Given the description of an element on the screen output the (x, y) to click on. 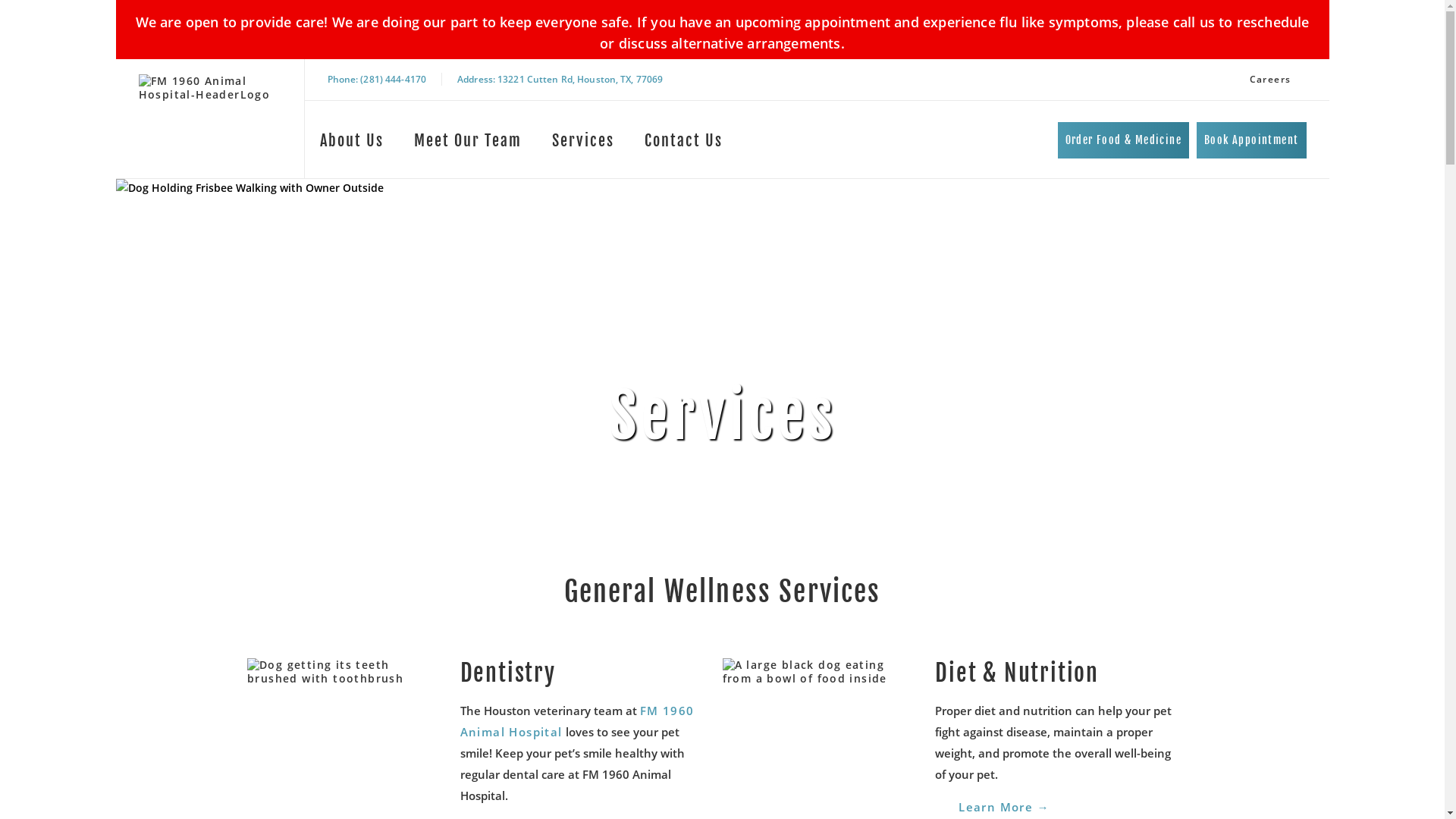
Logo Element type: hover (213, 118)
Book Appointment Element type: text (1250, 139)
Order Food & Medicine Element type: text (1123, 139)
Address: 13221 Cutten Rd, Houston, TX, 77069 Element type: text (559, 78)
About Us Element type: text (351, 143)
Dog getting its teeth brushed with toothbrush Element type: hover (342, 671)
Phone: (281) 444-4170 Element type: text (376, 78)
Careers Element type: text (1270, 79)
A large black dog eating from a bowl of food inside Element type: hover (816, 671)
Meet Our Team Element type: text (467, 143)
FM 1960 Animal Hospital Element type: text (577, 720)
Services Element type: text (583, 143)
FM 1960 Animal Hospital-HeaderLogo Element type: hover (213, 87)
Contact Us Element type: text (683, 143)
Dog Holding Frisbee Walking with Owner Outside Element type: hover (721, 187)
